Given the description of an element on the screen output the (x, y) to click on. 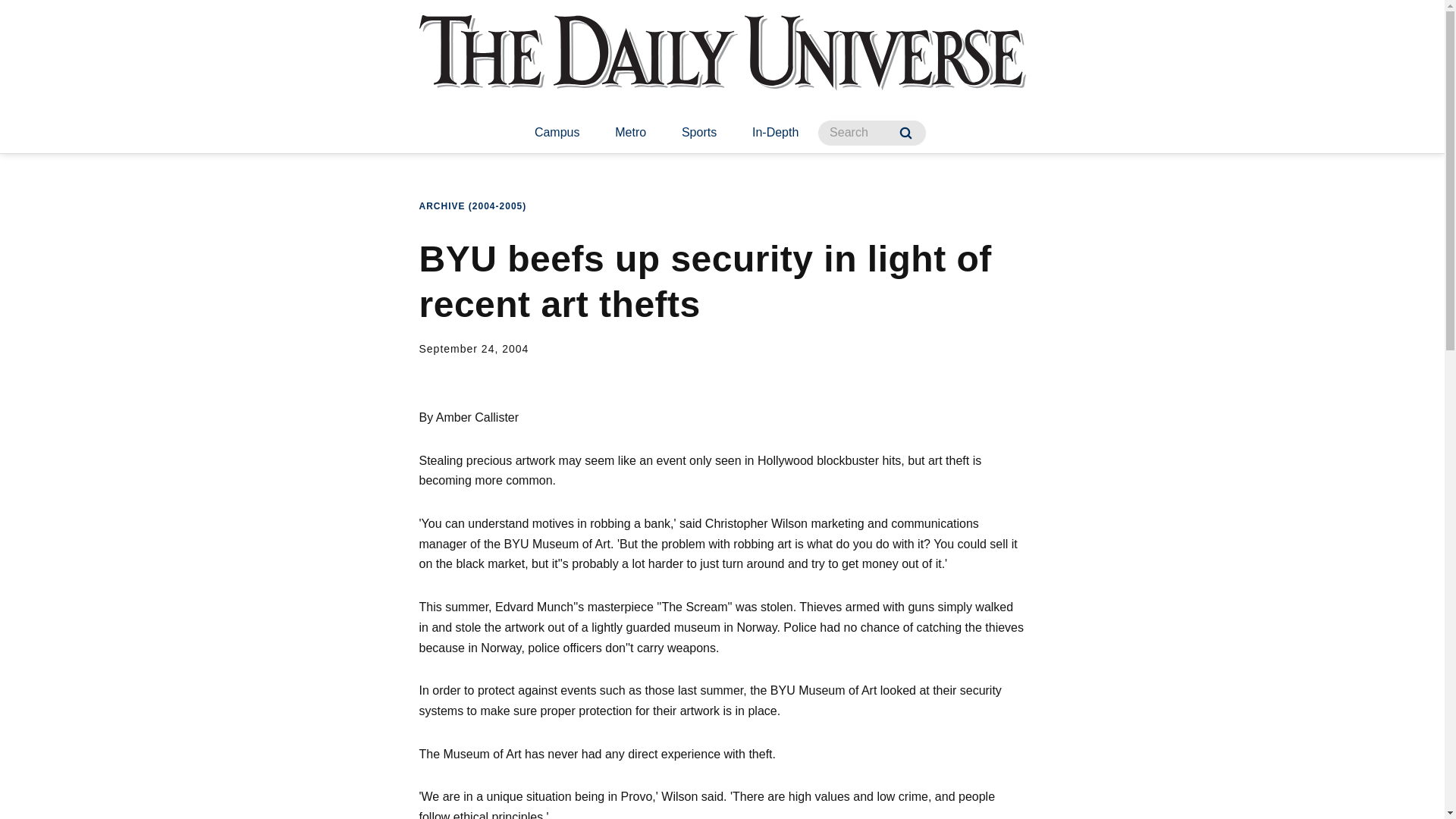
Metro (630, 133)
Search (905, 132)
Sports (699, 133)
Campus (557, 133)
In-Depth (775, 133)
